Given the description of an element on the screen output the (x, y) to click on. 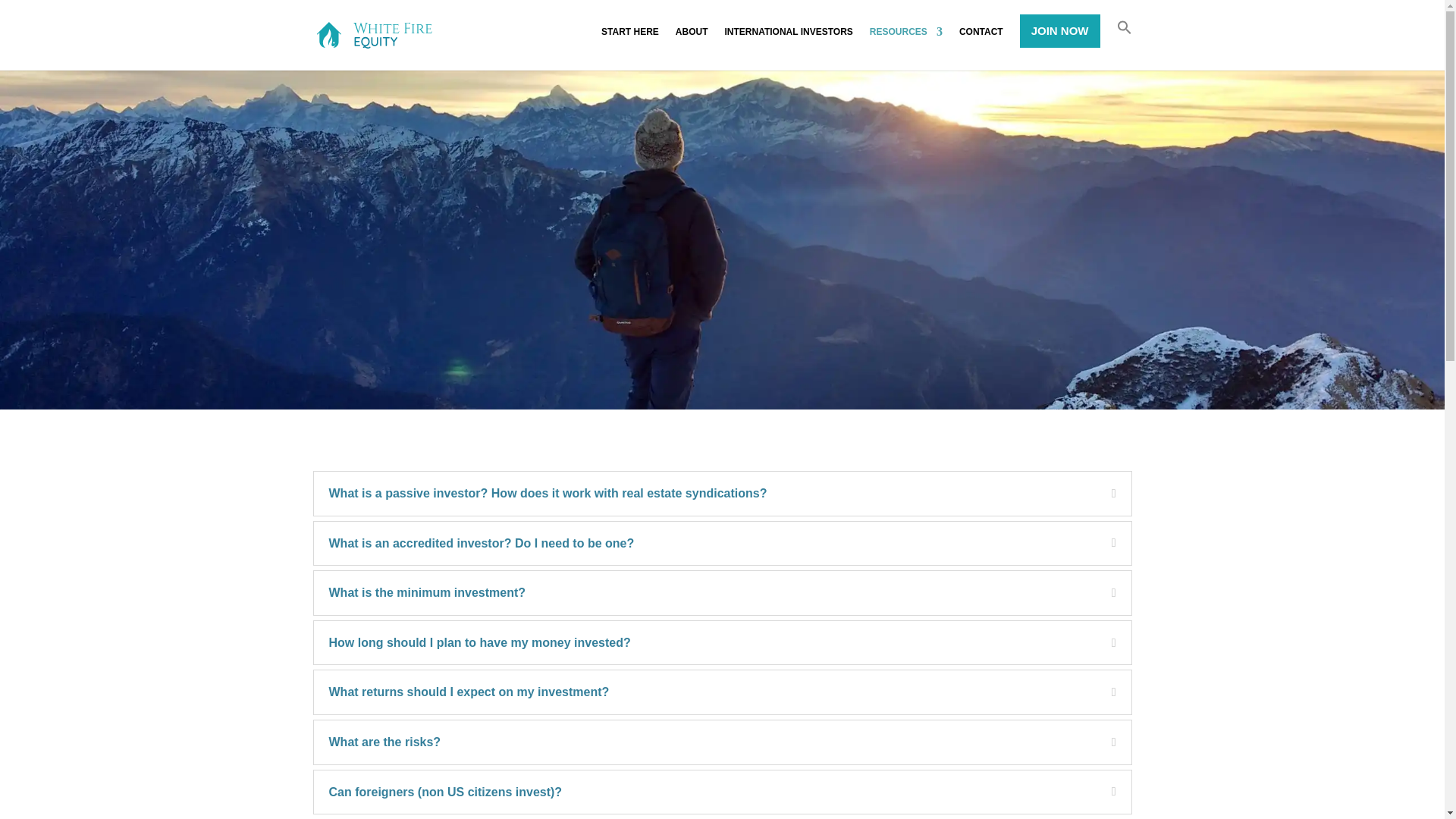
RESOURCES (905, 38)
JOIN NOW (1060, 30)
INTERNATIONAL INVESTORS (789, 38)
ABOUT (691, 38)
CONTACT (981, 38)
START HERE (630, 38)
